Given the description of an element on the screen output the (x, y) to click on. 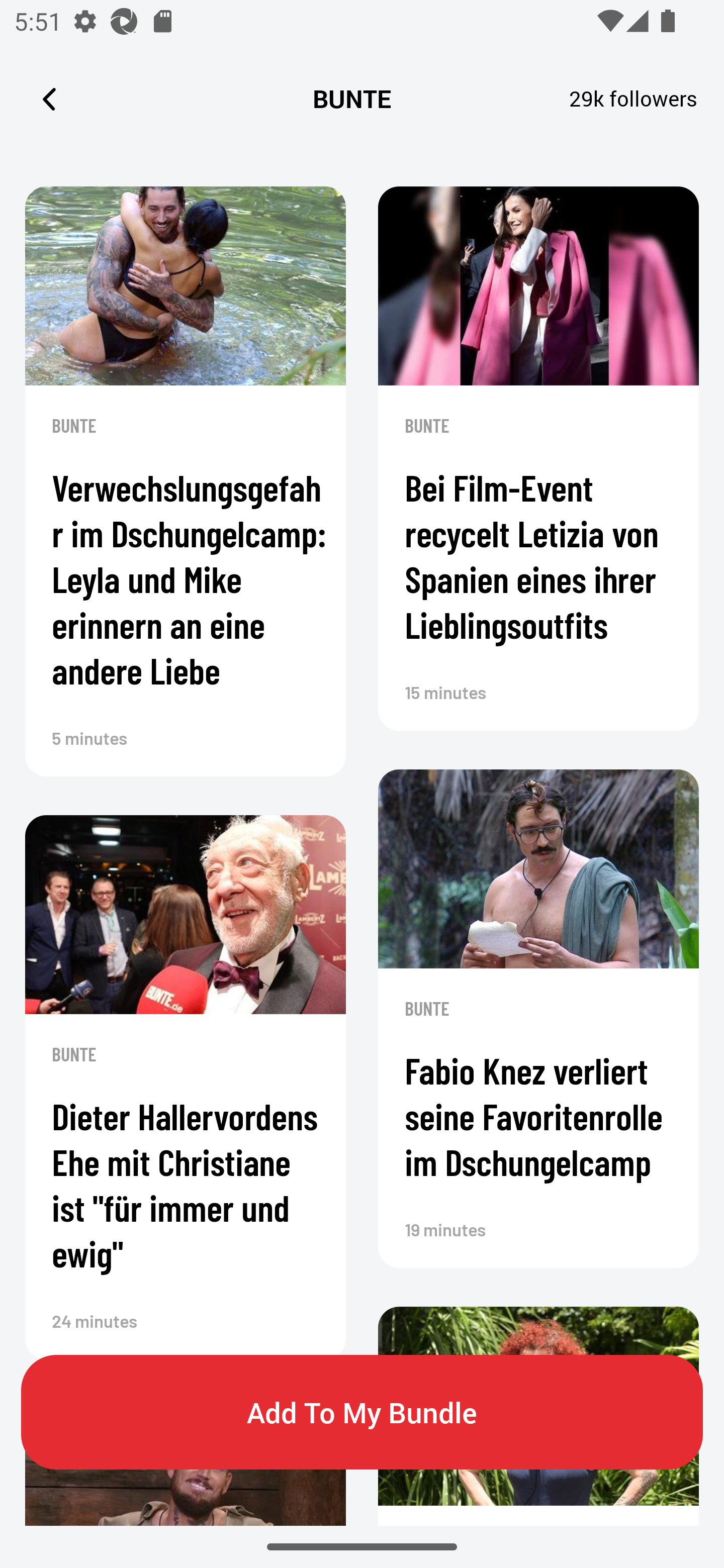
Leading Icon (49, 98)
Add To My Bundle (361, 1411)
